Given the description of an element on the screen output the (x, y) to click on. 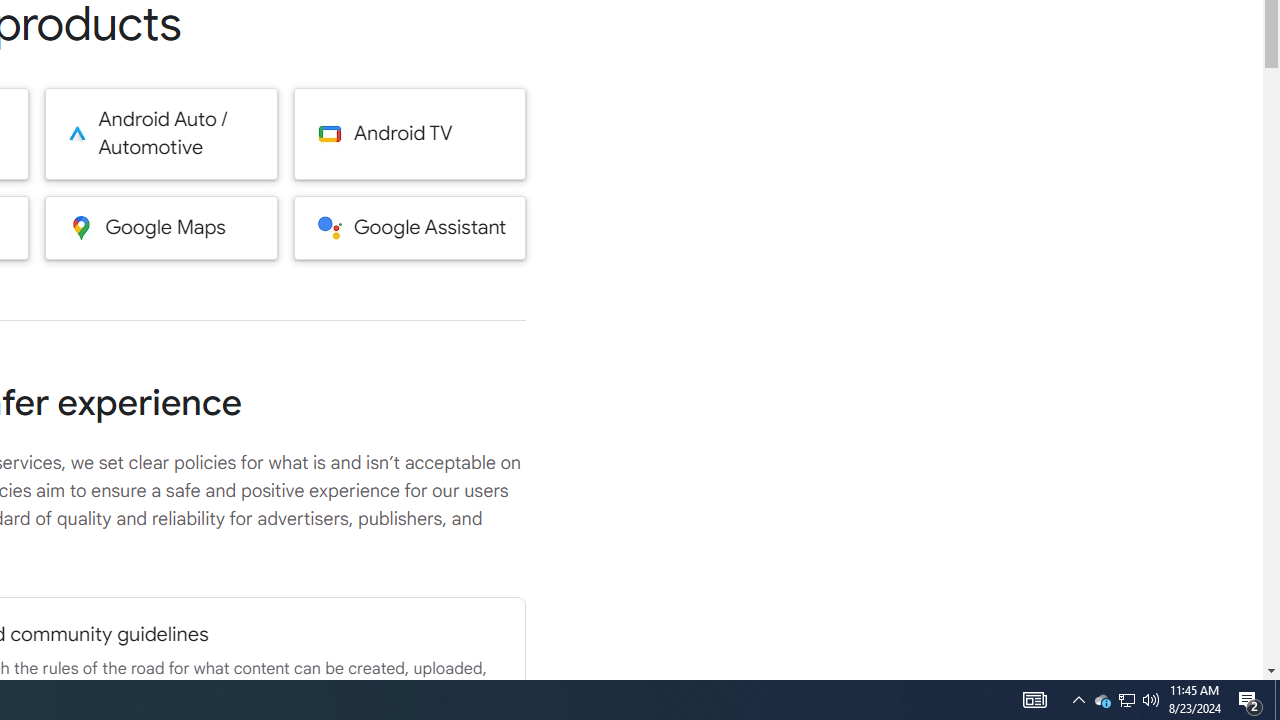
Google Maps (160, 227)
Android Auto / Automotive (160, 133)
Android TV (410, 133)
Google Assistant (410, 227)
